Given the description of an element on the screen output the (x, y) to click on. 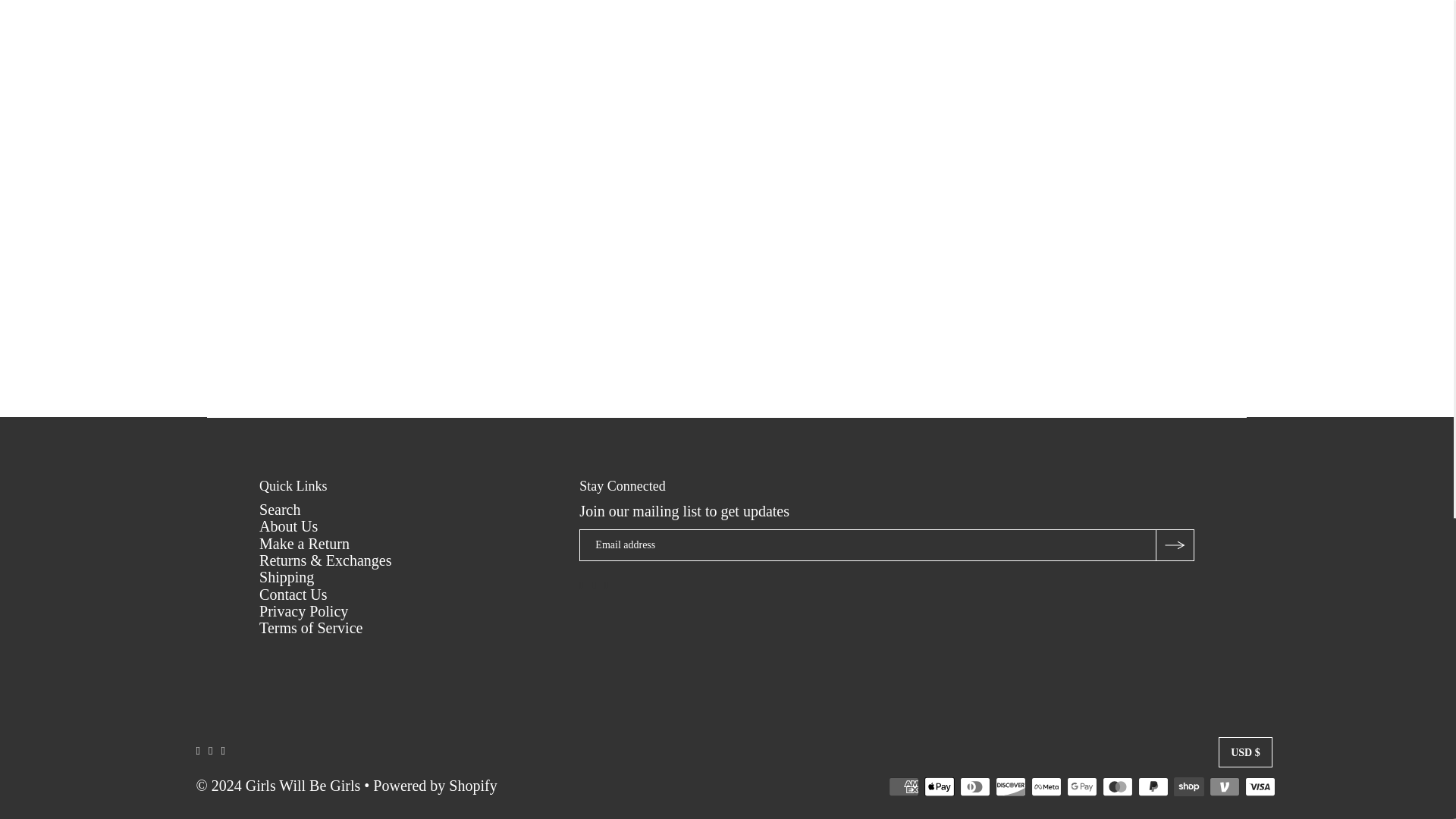
Mastercard (1117, 786)
Discover (1010, 786)
Visa (1259, 786)
Venmo (1224, 786)
Apple Pay (939, 786)
PayPal (1153, 786)
Diners Club (974, 786)
Shop Pay (1188, 786)
Meta Pay (1045, 786)
Google Pay (1082, 786)
